Given the description of an element on the screen output the (x, y) to click on. 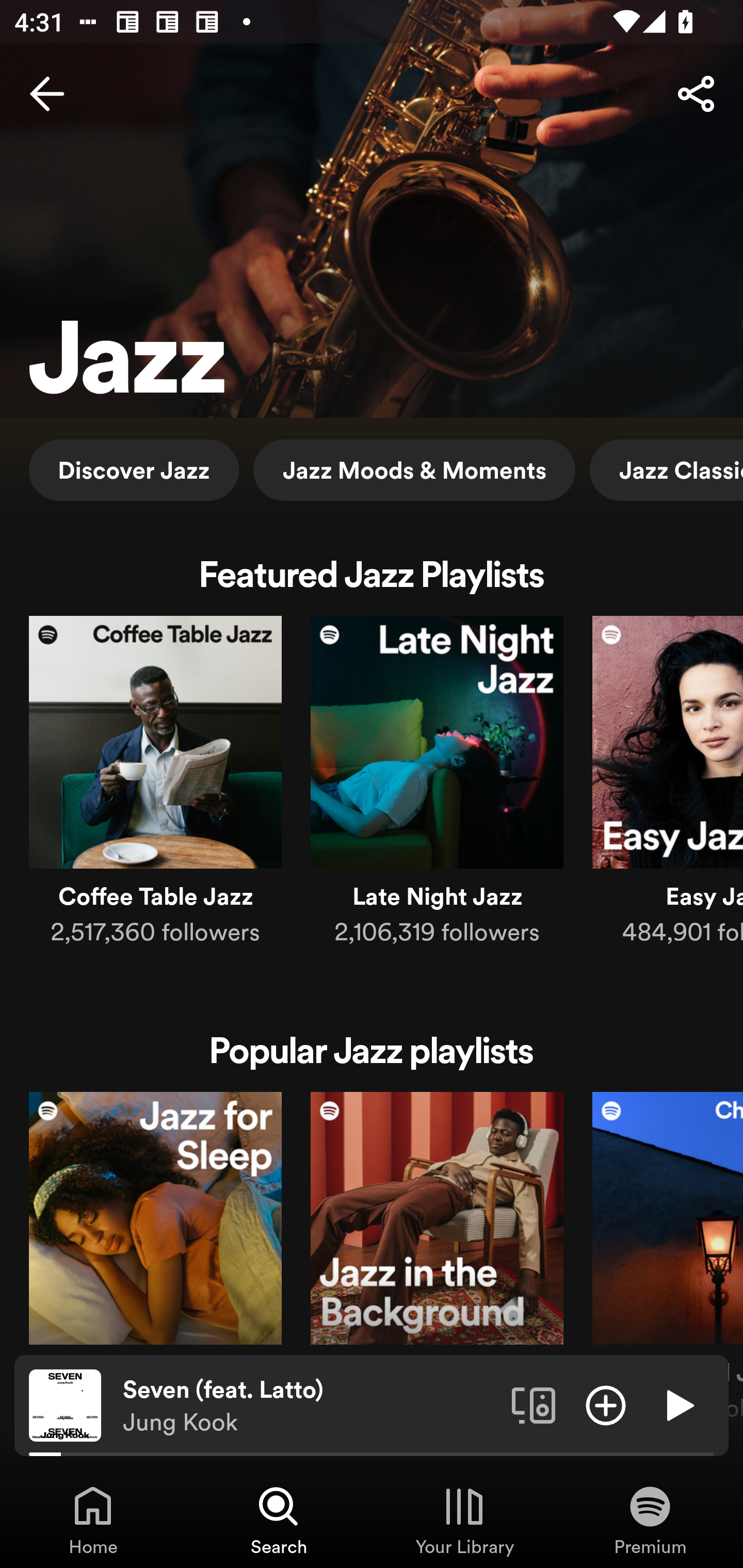
Back (46, 93)
Share Menu (695, 93)
Discover Jazz (133, 469)
Jazz Moods & Moments (414, 469)
Jazz Classics (666, 469)
Seven (feat. Latto) Jung Kook (309, 1405)
The cover art of the currently playing track (64, 1404)
Connect to a device. Opens the devices menu (533, 1404)
Add item (605, 1404)
Play (677, 1404)
Home, Tab 1 of 4 Home Home (92, 1519)
Search, Tab 2 of 4 Search Search (278, 1519)
Your Library, Tab 3 of 4 Your Library Your Library (464, 1519)
Premium, Tab 4 of 4 Premium Premium (650, 1519)
